Given the description of an element on the screen output the (x, y) to click on. 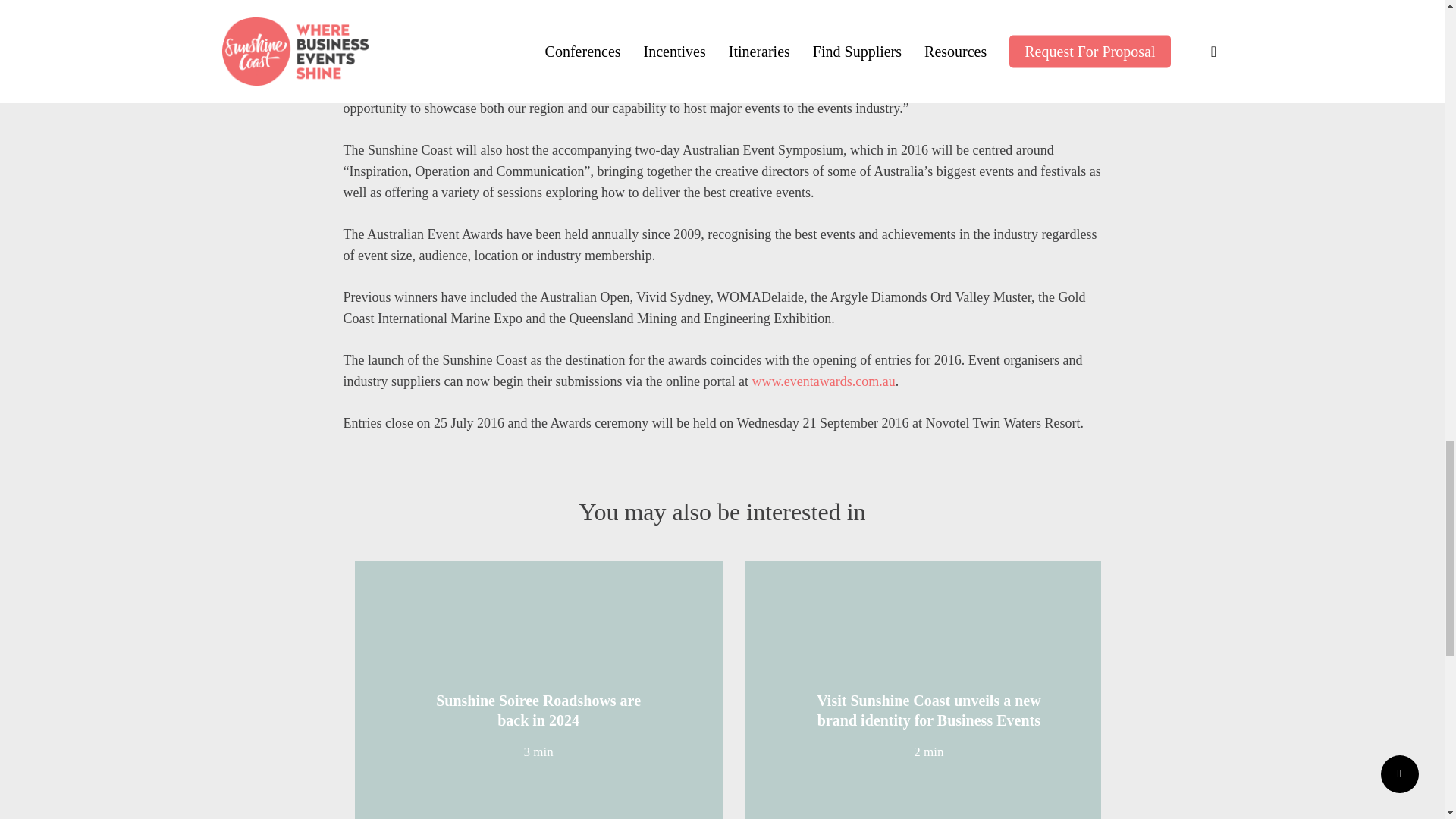
Sunshine Soiree Roadshows are back in 2024 (537, 710)
www.eventawards.com.au (823, 383)
